Given the description of an element on the screen output the (x, y) to click on. 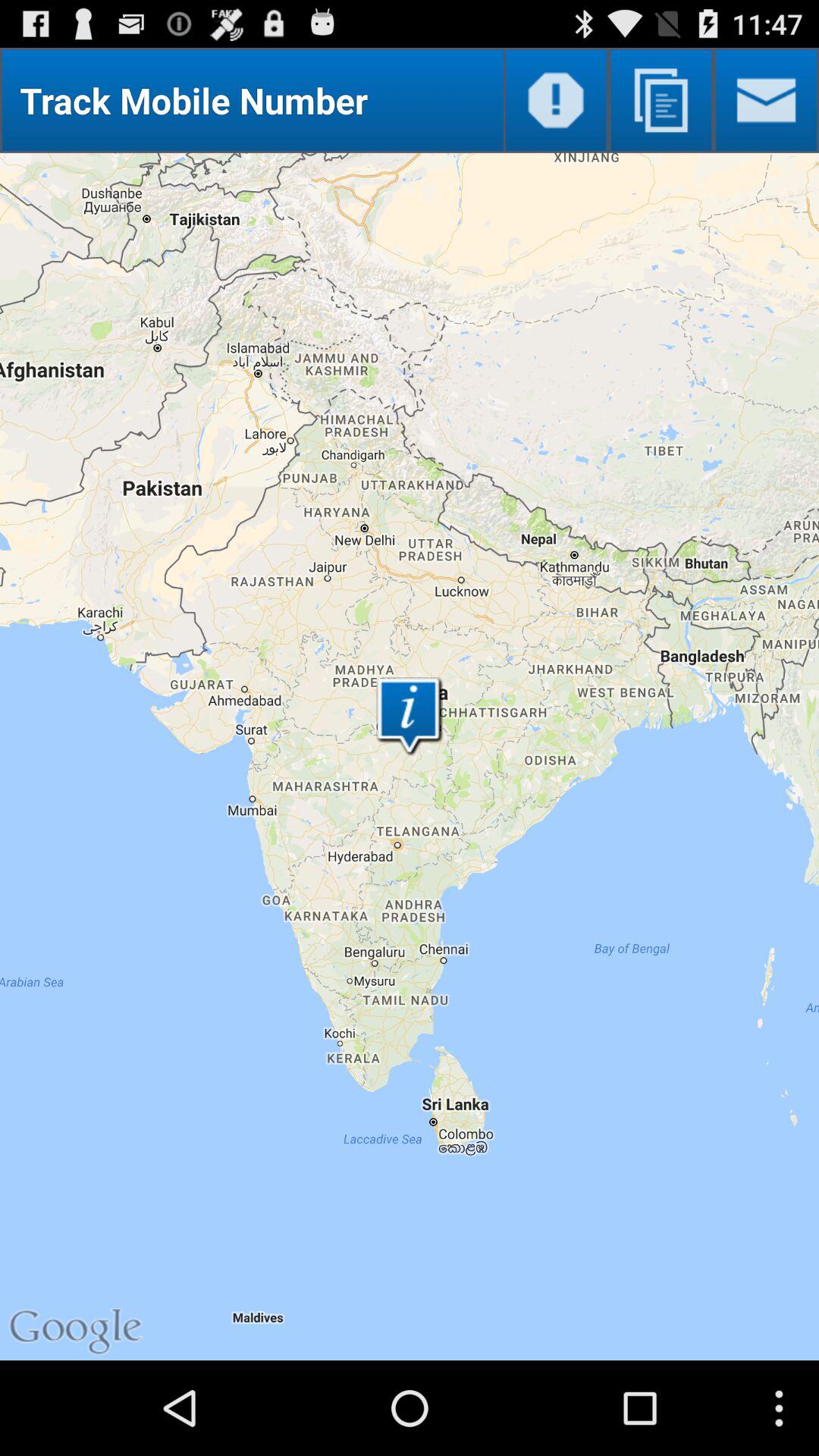
copy (660, 99)
